Given the description of an element on the screen output the (x, y) to click on. 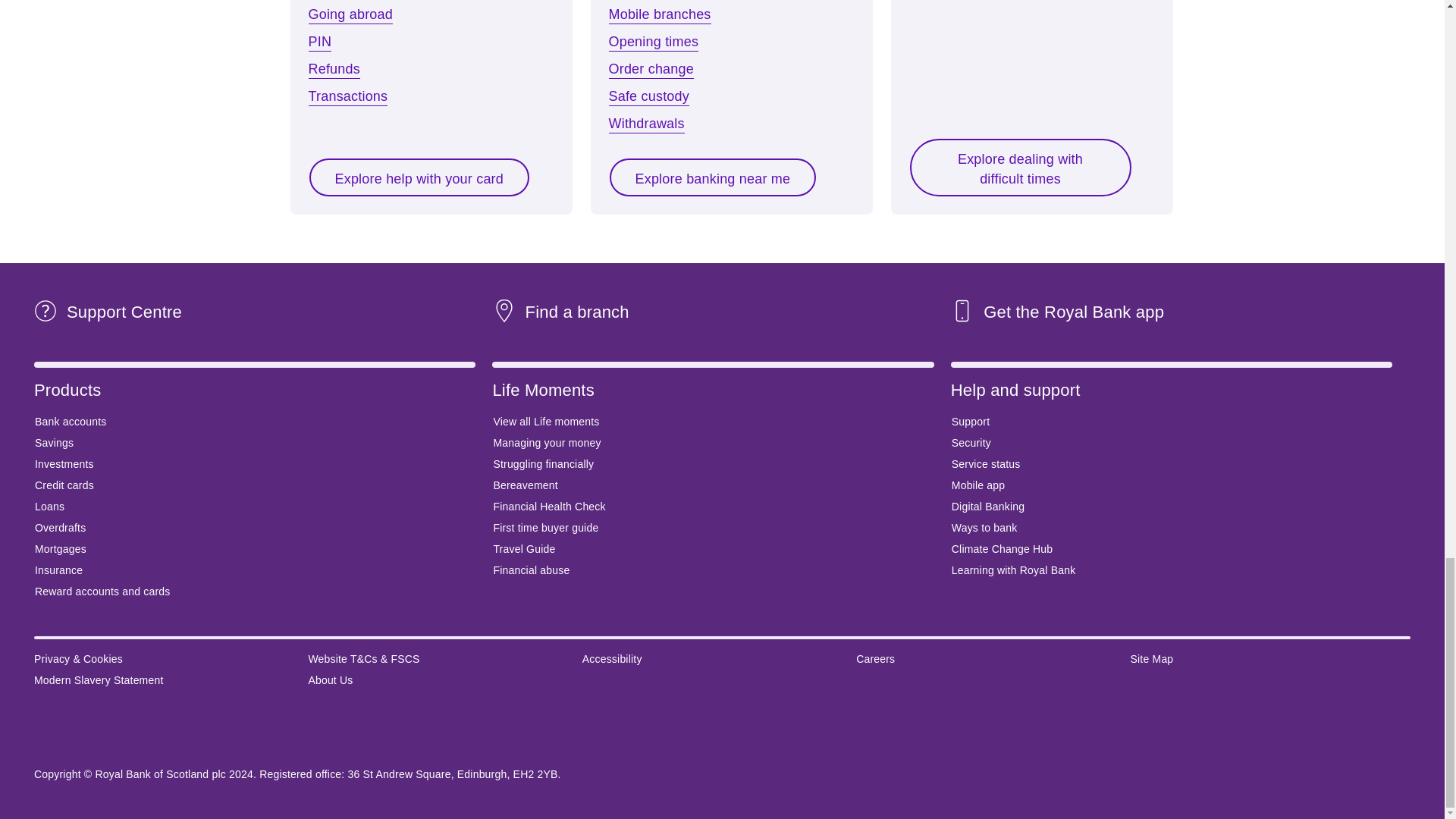
fscs (154, 733)
Explore banking near me (712, 176)
Explore help with your card (418, 176)
Explore dealing with difficult times (1019, 167)
